Given the description of an element on the screen output the (x, y) to click on. 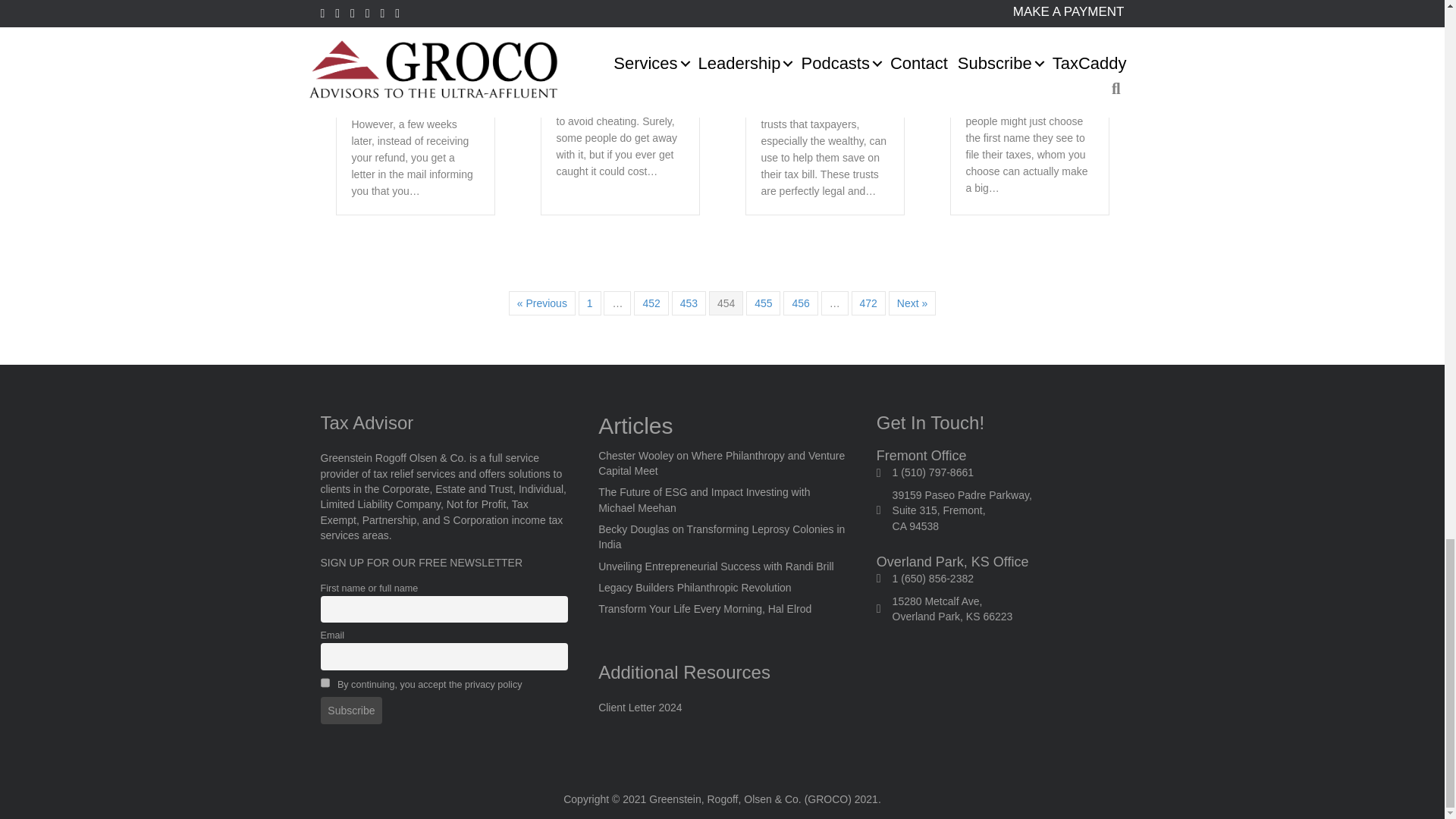
on (325, 682)
Subscribe (350, 709)
Get In Touch! (930, 422)
